Given the description of an element on the screen output the (x, y) to click on. 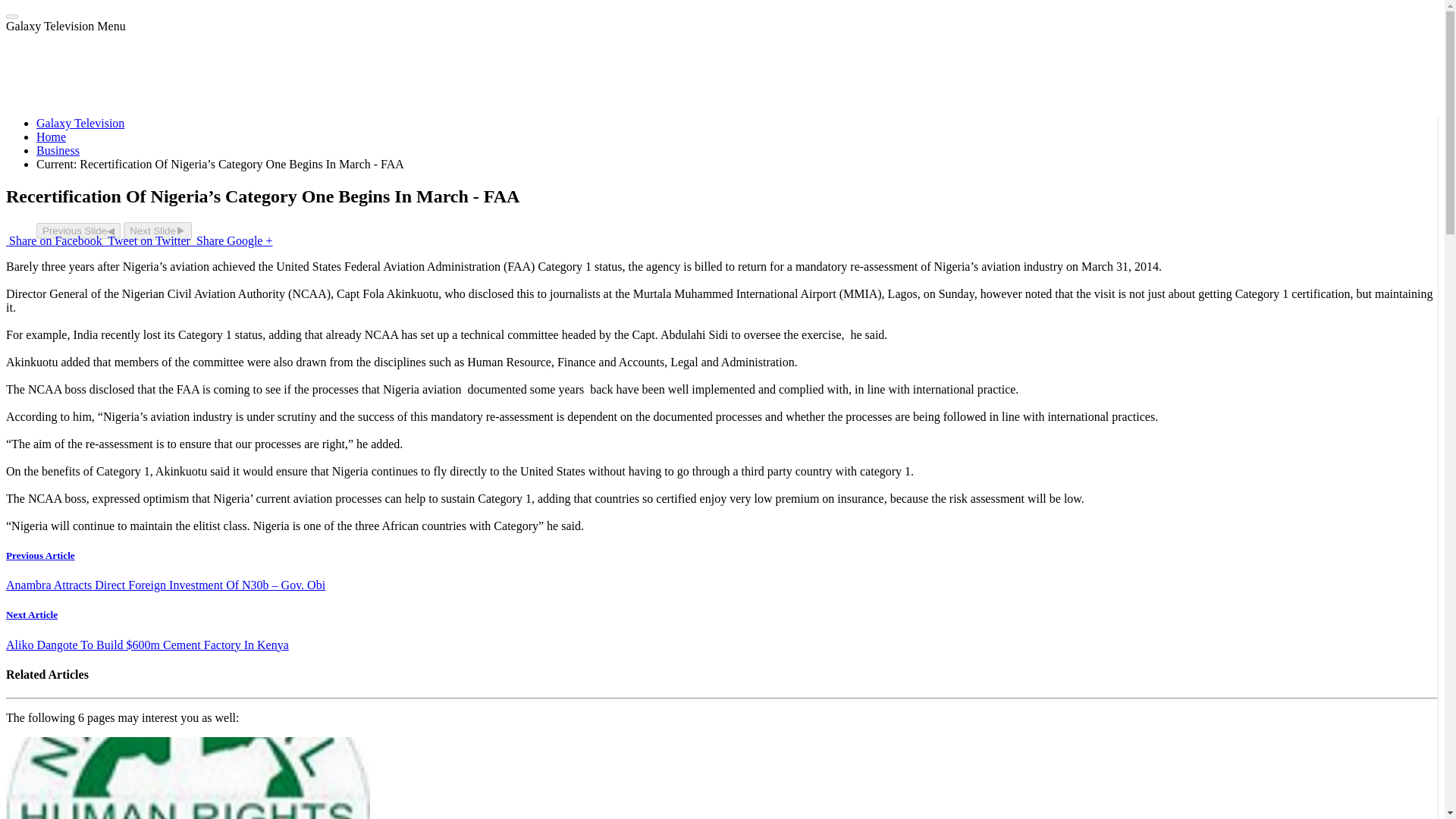
Galaxy Television (79, 123)
 Tweet on Twitter (148, 240)
Advertisement (722, 67)
 Share on Facebook (54, 240)
Business (58, 150)
Home (50, 136)
